Given the description of an element on the screen output the (x, y) to click on. 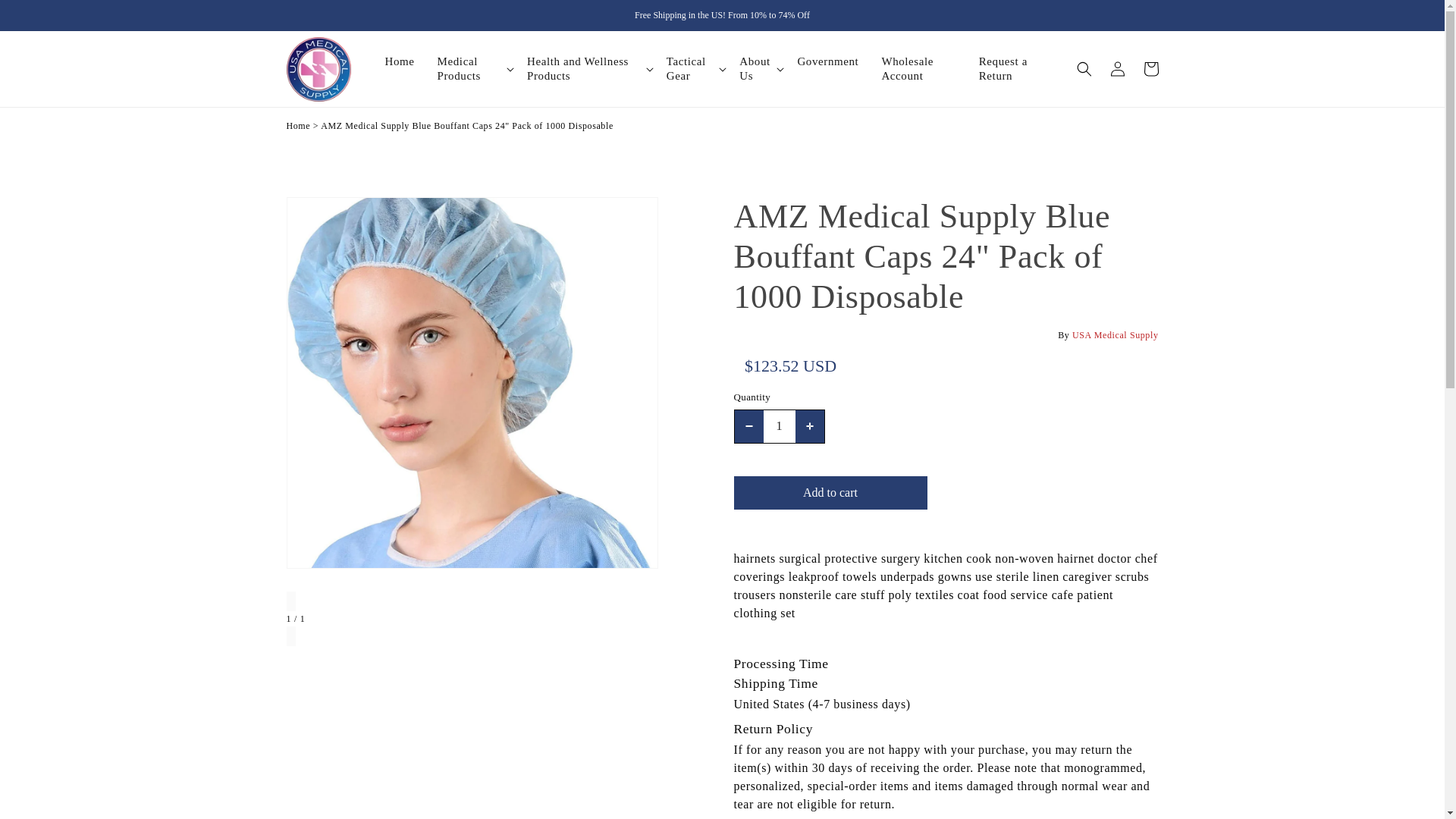
Home (298, 125)
Skip to content (14, 7)
1 (778, 426)
Home (409, 60)
